Given the description of an element on the screen output the (x, y) to click on. 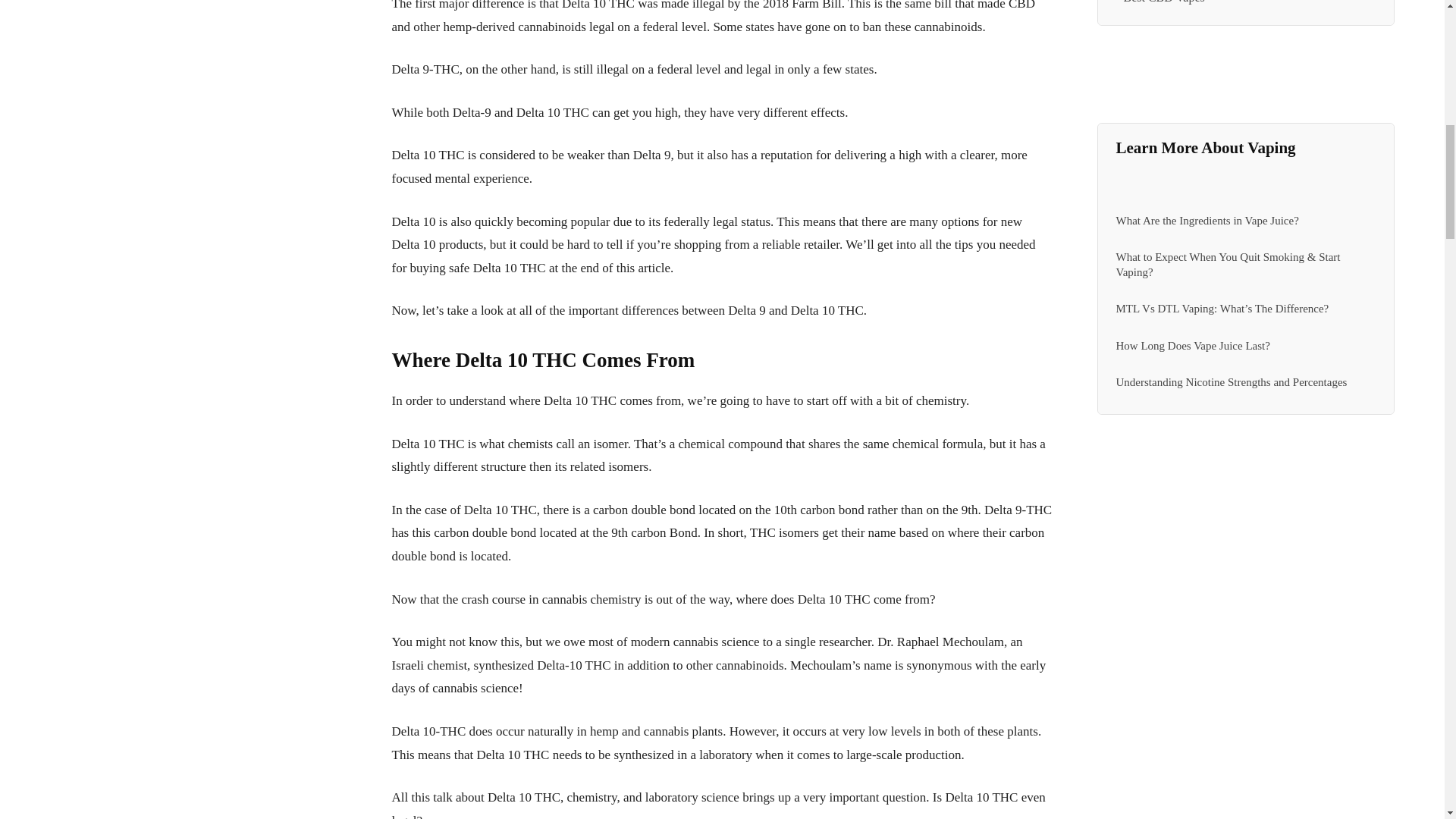
Understanding Nicotine Strengths and Percentages (1232, 381)
How Long Does Vape Juice Last? (1192, 345)
What Are the Ingredients in Vape Juice? (1207, 220)
